Given the description of an element on the screen output the (x, y) to click on. 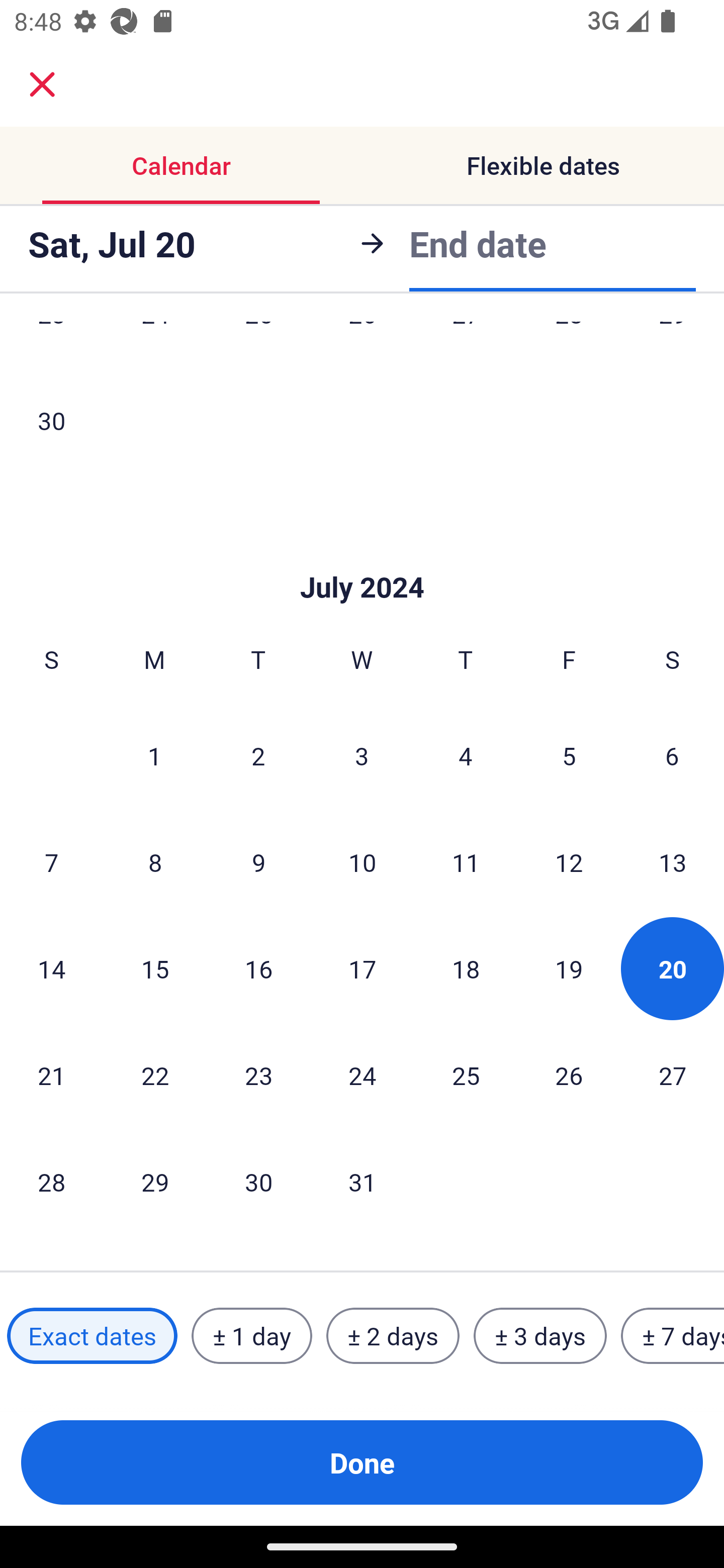
close. (42, 84)
Flexible dates (542, 164)
End date (477, 240)
30 Sunday, June 30, 2024 (51, 419)
Skip to Done (362, 556)
1 Monday, July 1, 2024 (154, 755)
2 Tuesday, July 2, 2024 (257, 755)
3 Wednesday, July 3, 2024 (361, 755)
4 Thursday, July 4, 2024 (465, 755)
5 Friday, July 5, 2024 (568, 755)
6 Saturday, July 6, 2024 (672, 755)
7 Sunday, July 7, 2024 (51, 862)
8 Monday, July 8, 2024 (155, 862)
9 Tuesday, July 9, 2024 (258, 862)
10 Wednesday, July 10, 2024 (362, 862)
11 Thursday, July 11, 2024 (465, 862)
12 Friday, July 12, 2024 (569, 862)
13 Saturday, July 13, 2024 (672, 862)
14 Sunday, July 14, 2024 (51, 968)
15 Monday, July 15, 2024 (155, 968)
16 Tuesday, July 16, 2024 (258, 968)
17 Wednesday, July 17, 2024 (362, 968)
18 Thursday, July 18, 2024 (465, 968)
19 Friday, July 19, 2024 (569, 968)
21 Sunday, July 21, 2024 (51, 1075)
22 Monday, July 22, 2024 (155, 1075)
23 Tuesday, July 23, 2024 (258, 1075)
24 Wednesday, July 24, 2024 (362, 1075)
25 Thursday, July 25, 2024 (465, 1075)
26 Friday, July 26, 2024 (569, 1075)
27 Saturday, July 27, 2024 (672, 1075)
28 Sunday, July 28, 2024 (51, 1182)
29 Monday, July 29, 2024 (155, 1182)
30 Tuesday, July 30, 2024 (258, 1182)
31 Wednesday, July 31, 2024 (362, 1182)
Exact dates (92, 1335)
± 1 day (251, 1335)
± 2 days (392, 1335)
± 3 days (539, 1335)
± 7 days (672, 1335)
Done (361, 1462)
